Given the description of an element on the screen output the (x, y) to click on. 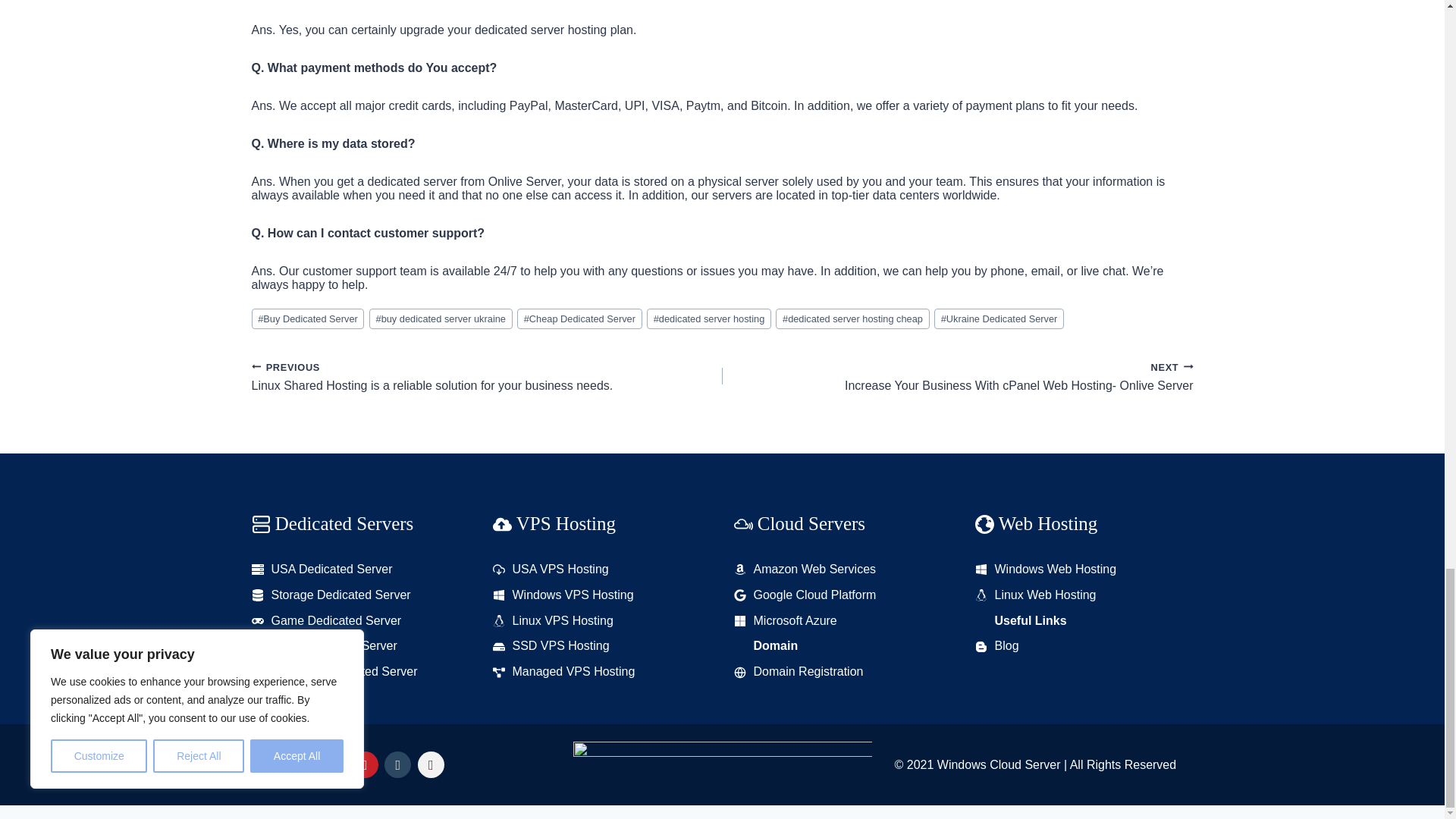
Ukraine Dedicated Server (999, 318)
dedicated server hosting cheap (852, 318)
buy dedicated server ukraine (440, 318)
Cheap Dedicated Server (579, 318)
dedicated server hosting (708, 318)
Buy Dedicated Server (308, 318)
